Given the description of an element on the screen output the (x, y) to click on. 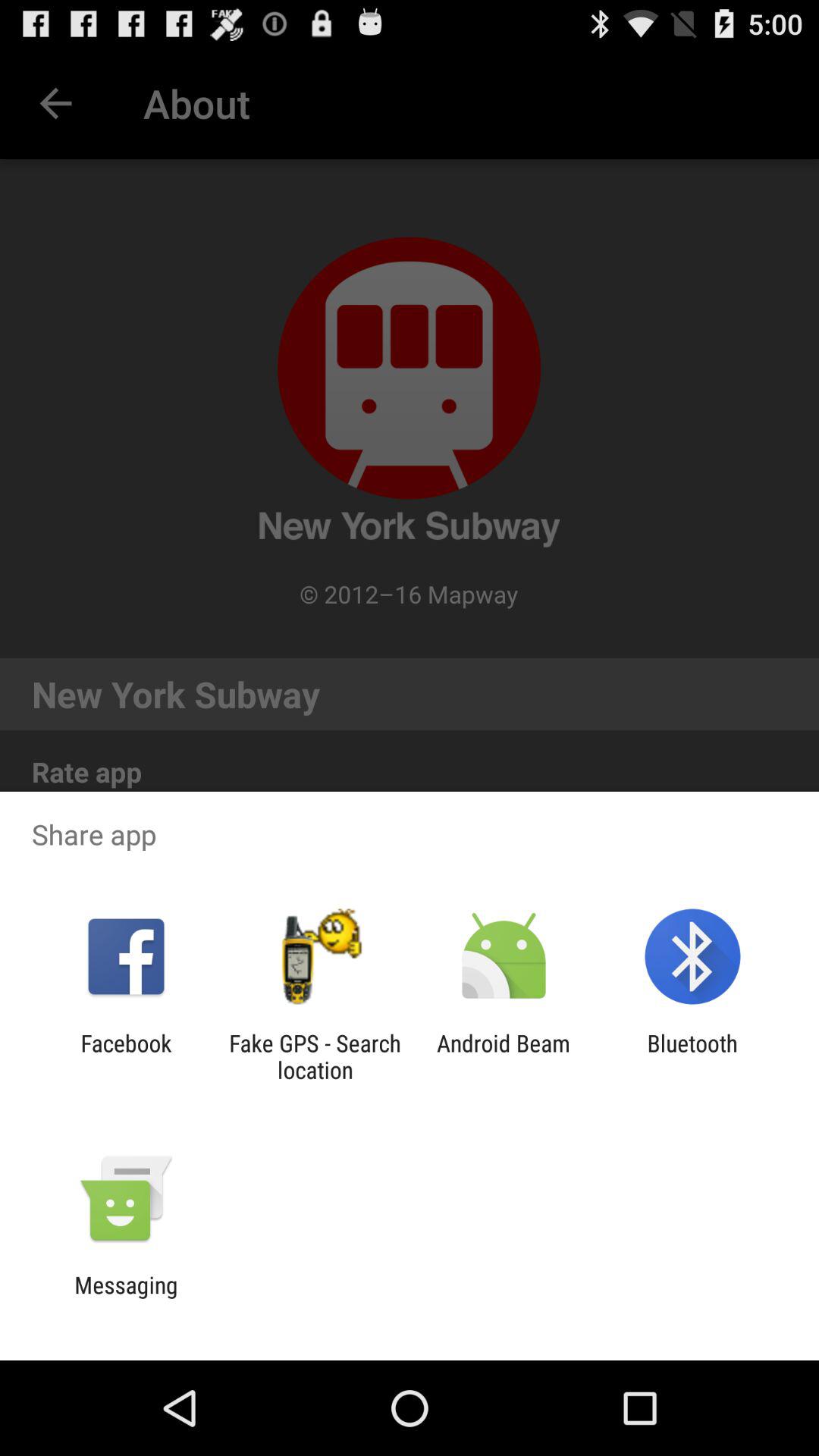
turn on the item next to bluetooth item (503, 1056)
